Given the description of an element on the screen output the (x, y) to click on. 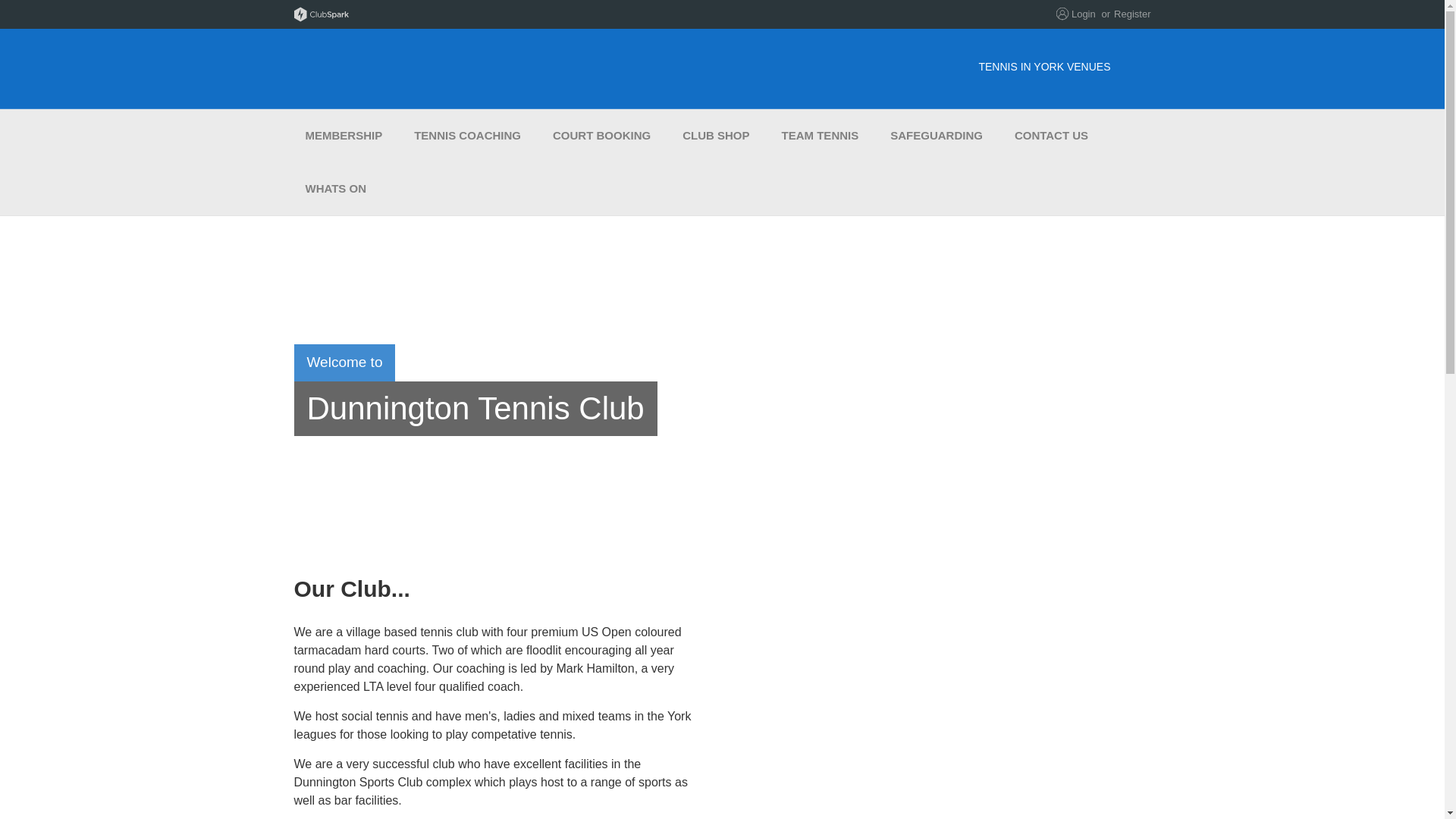
TENNIS COACHING (467, 135)
CONTACT US (1051, 135)
TENNIS IN YORK VENUES (1056, 66)
Register (1131, 13)
TEAM TENNIS (820, 135)
MEMBERSHIP (344, 135)
COURT BOOKING (601, 135)
ClubSpark (508, 14)
WHATS ON (336, 188)
CLUB SHOP (715, 135)
